Given the description of an element on the screen output the (x, y) to click on. 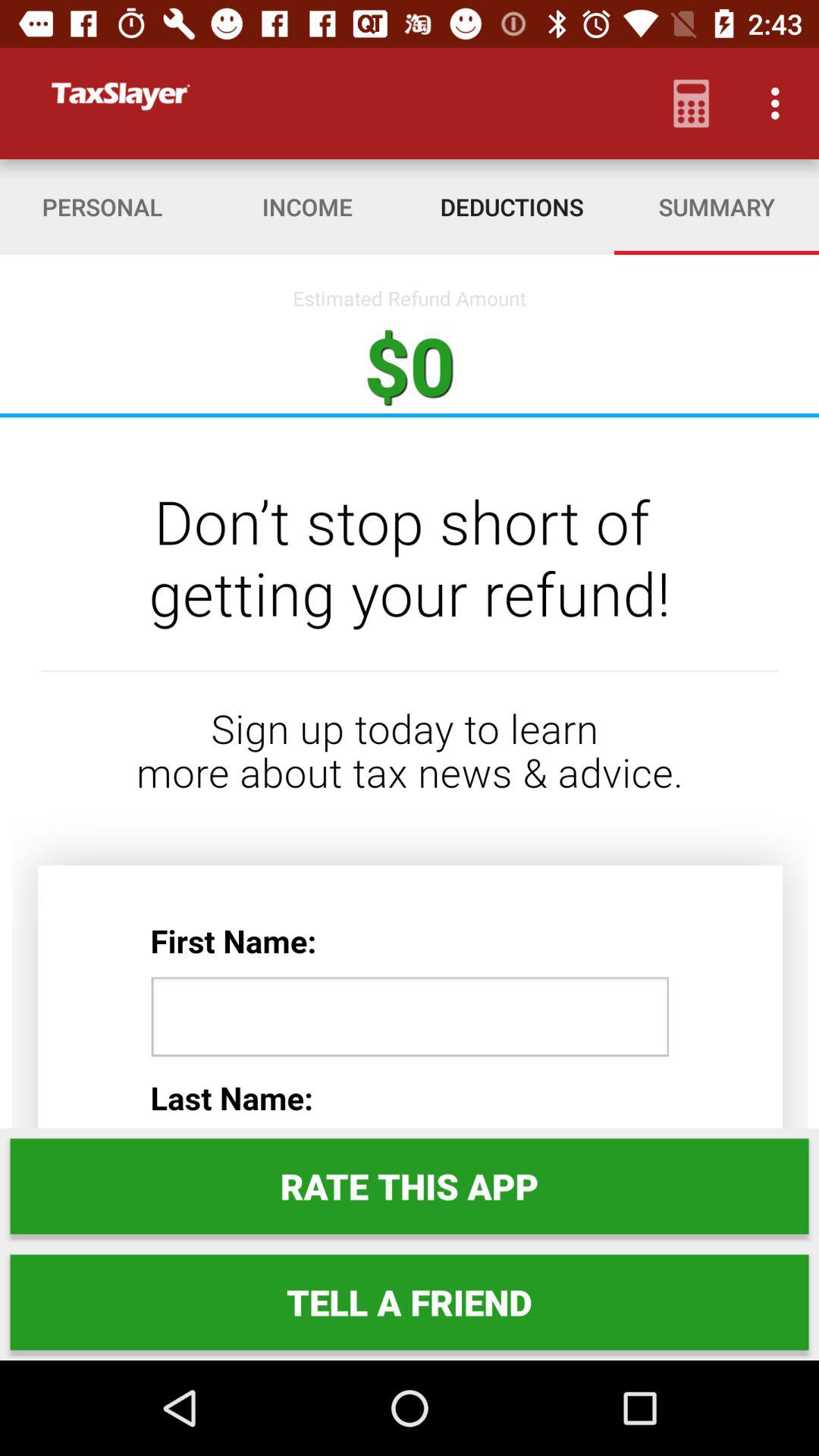
click item above the summary item (691, 103)
